Given the description of an element on the screen output the (x, y) to click on. 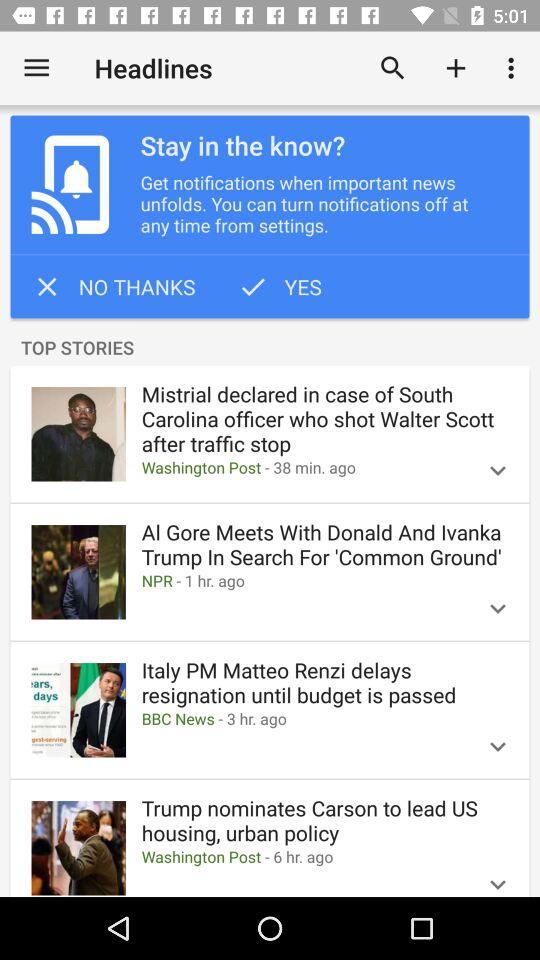
turn off top stories icon (270, 348)
